Given the description of an element on the screen output the (x, y) to click on. 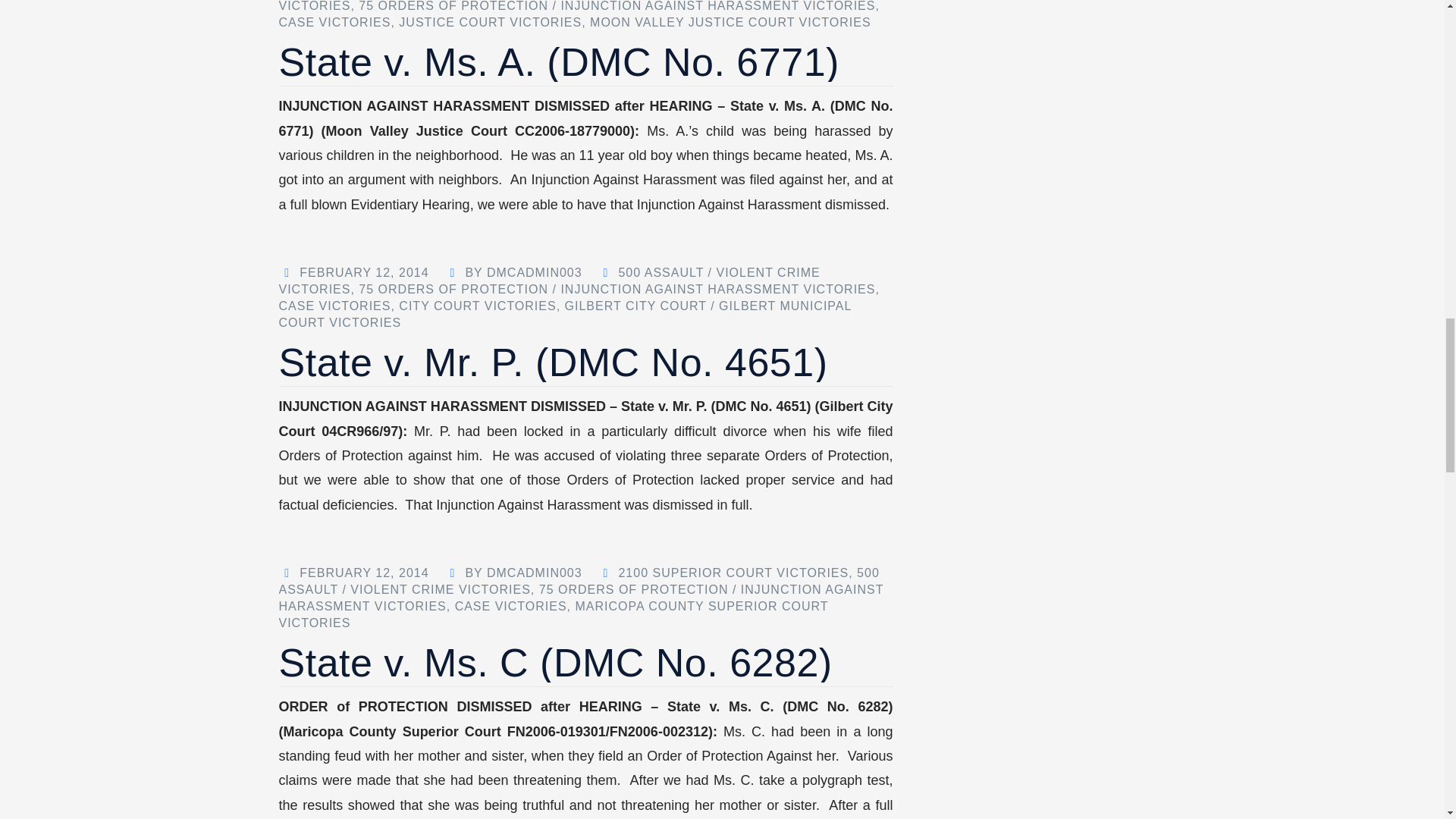
MOON VALLEY JUSTICE COURT VICTORIES (729, 21)
CASE VICTORIES (335, 21)
JUSTICE COURT VICTORIES (489, 21)
